Given the description of an element on the screen output the (x, y) to click on. 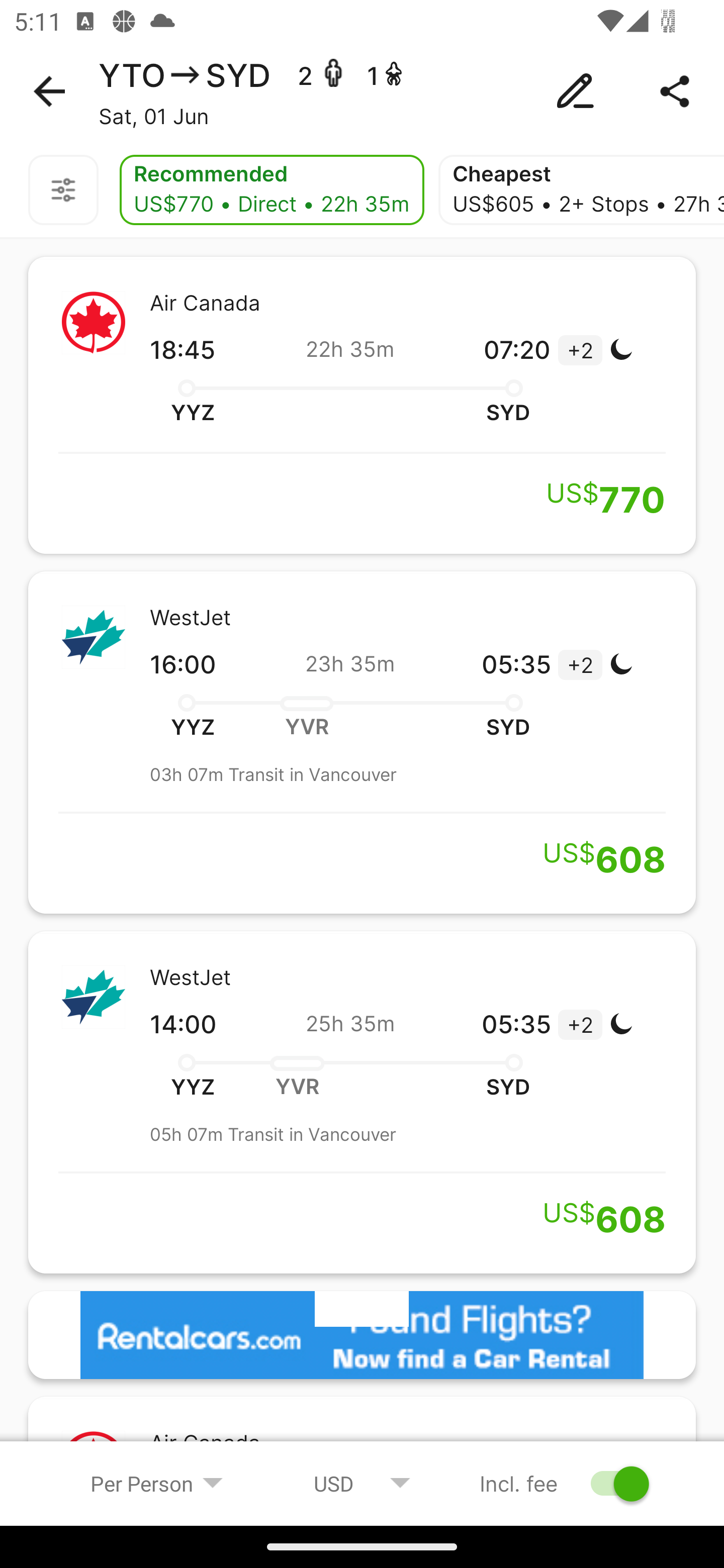
YTO SYD   2 -   1 - Sat, 01 Jun (361, 91)
Recommended  US$770 • Direct • 22h 35m (271, 190)
Cheapest US$605 • 2+ Stops • 27h 35m (581, 190)
Air Canada 18:45 22h 35m 07:20 YYZ SYD +2 (361, 405)
Per Person (156, 1482)
USD (361, 1482)
